Given the description of an element on the screen output the (x, y) to click on. 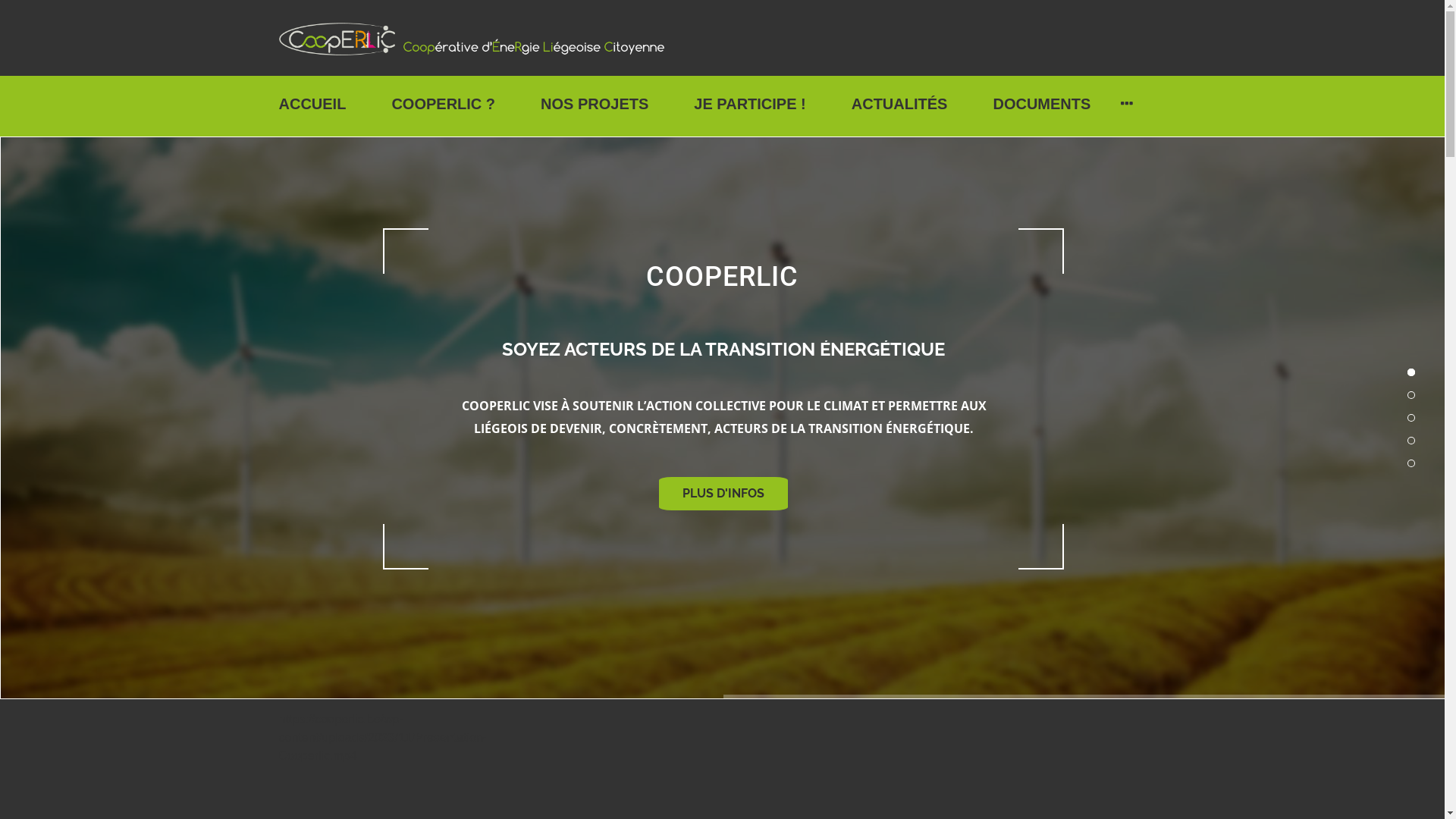
DOCUMENTS Element type: text (1041, 103)
NOS PROJETS Element type: text (594, 103)
ACCUEIL Element type: text (312, 103)
COOPERLIC ? Element type: text (443, 103)
PLUS D'INFOS Element type: text (722, 493)
JE PARTICIPE ! Element type: text (749, 103)
